Given the description of an element on the screen output the (x, y) to click on. 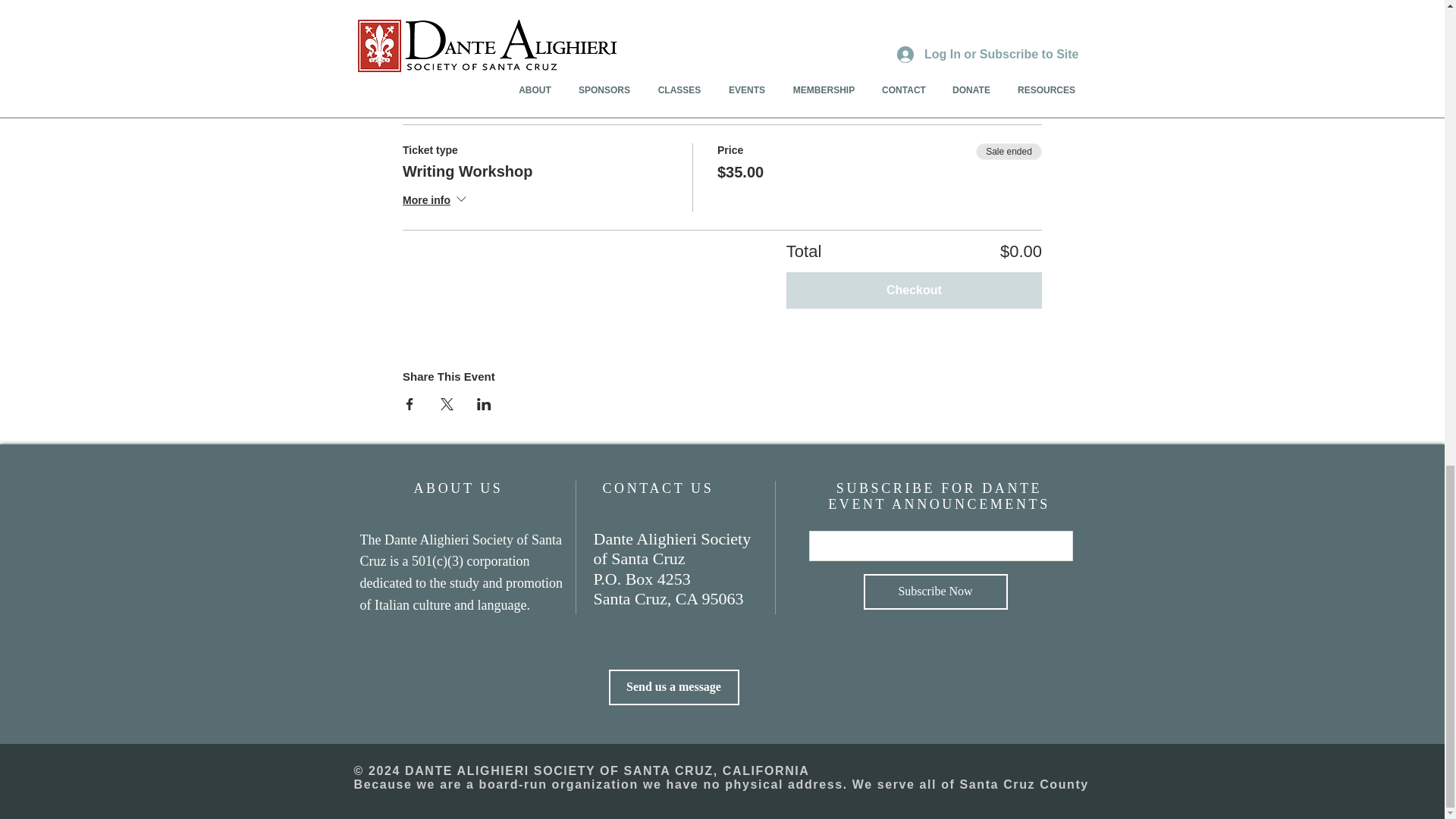
Send us a message (673, 687)
More info (435, 200)
Subscribe Now (935, 591)
CONTACT US (657, 488)
Checkout (914, 289)
